Given the description of an element on the screen output the (x, y) to click on. 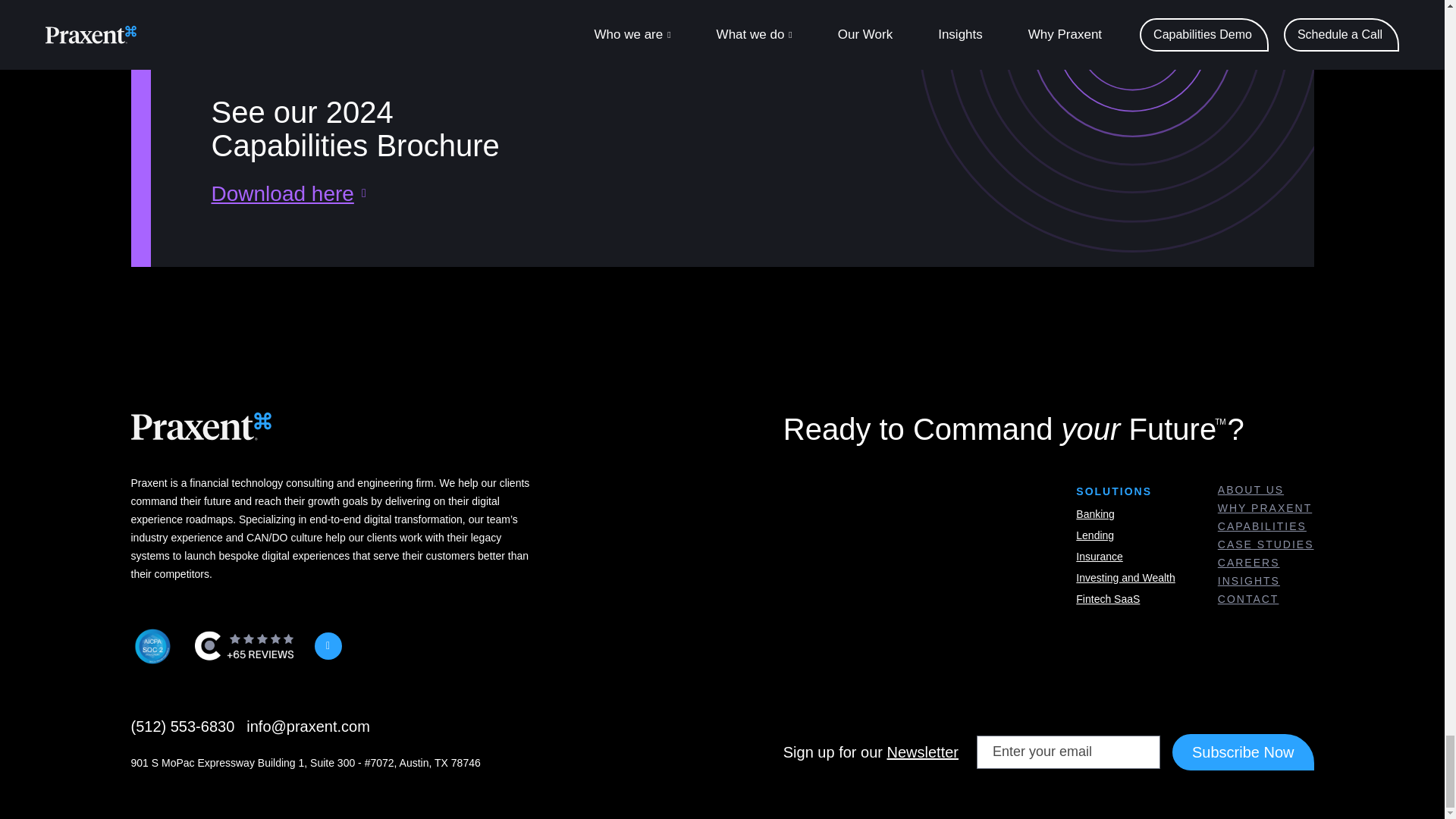
Subscribe Now (1243, 751)
